Given the description of an element on the screen output the (x, y) to click on. 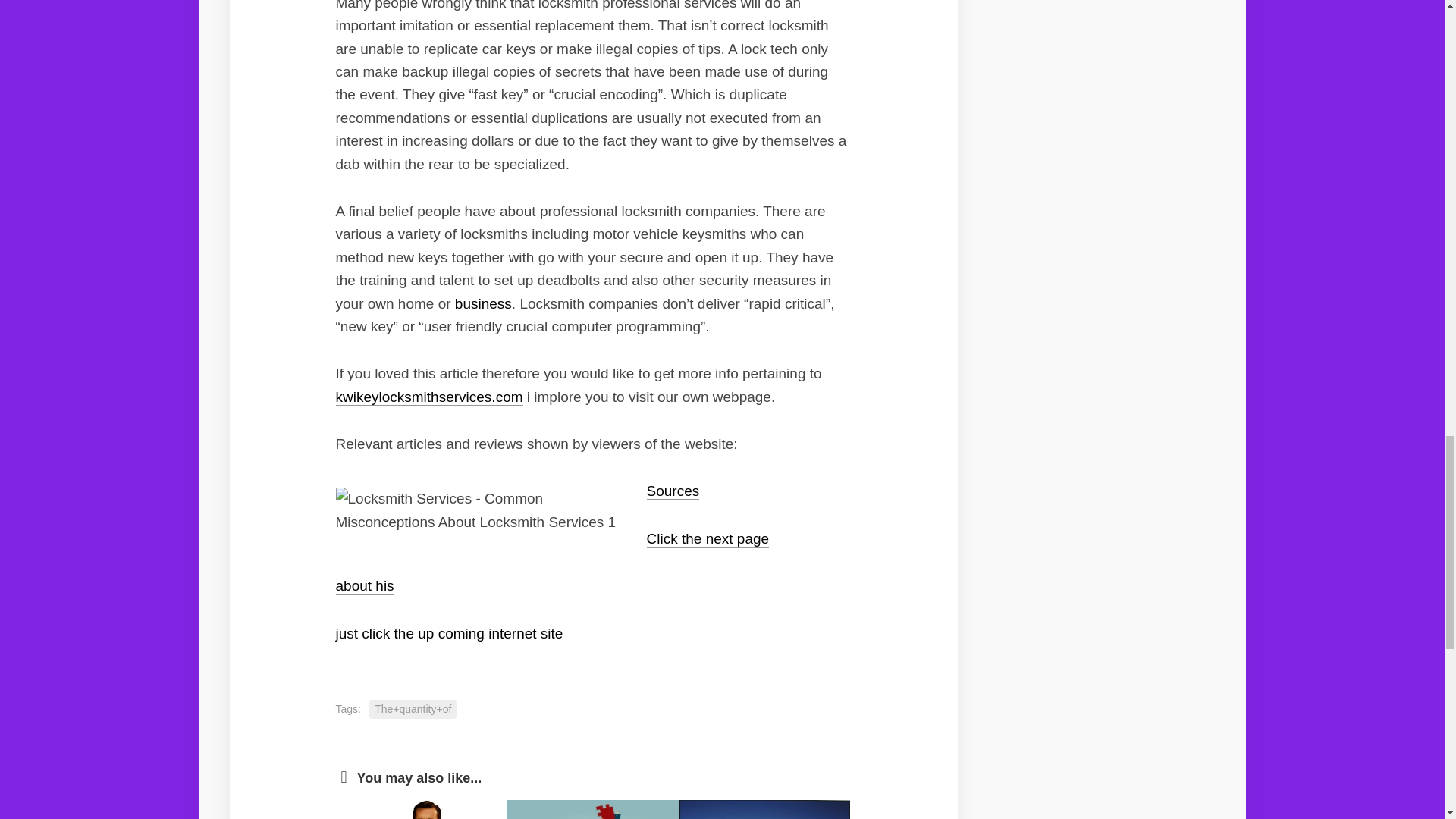
just click the up coming internet site (448, 633)
about his (363, 585)
Click the next page (707, 538)
business (483, 303)
kwikeylocksmithservices.com (428, 396)
Sources (672, 490)
